Given the description of an element on the screen output the (x, y) to click on. 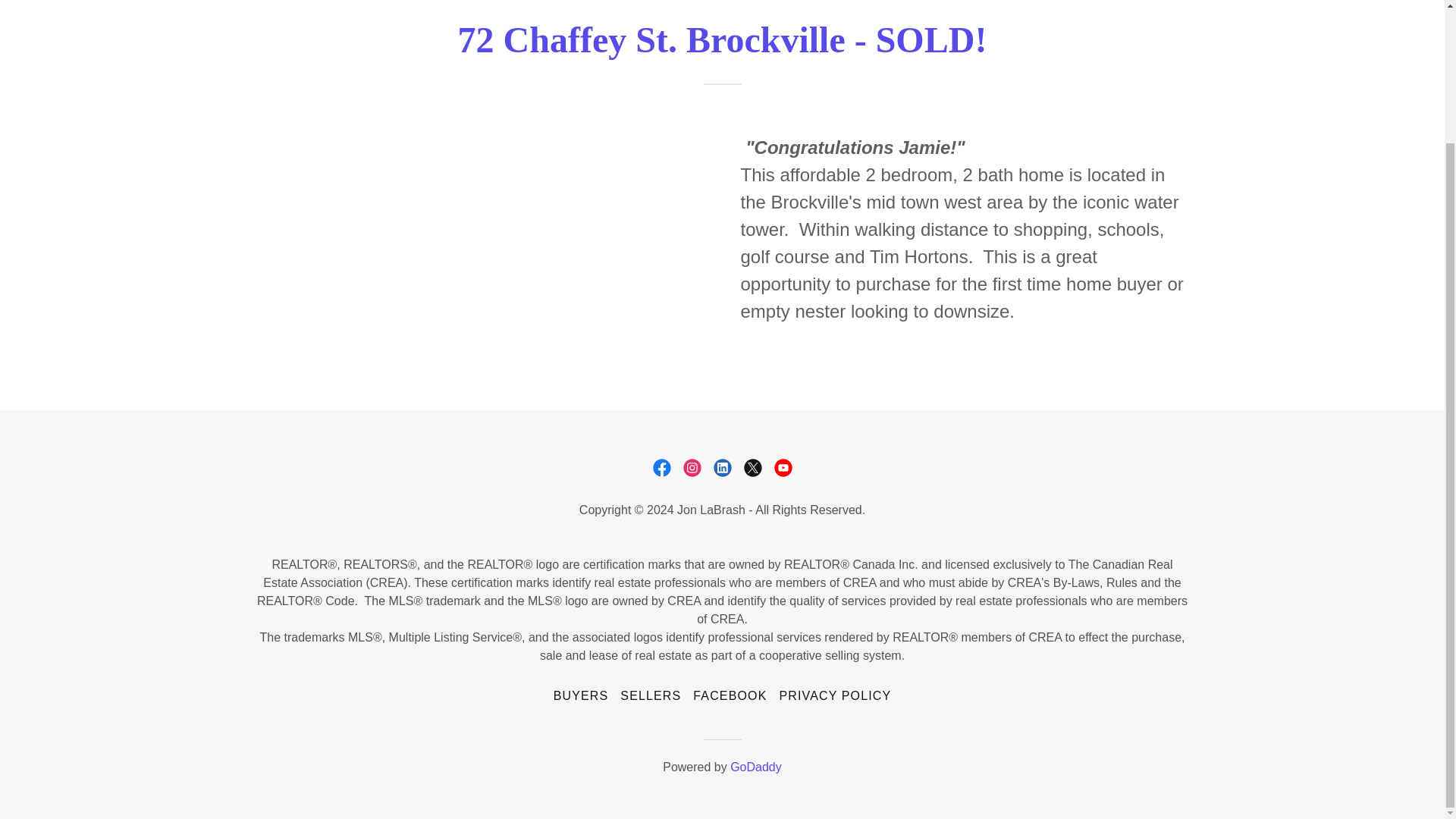
FACEBOOK (730, 696)
BUYERS (580, 696)
PRIVACY POLICY (834, 696)
GoDaddy (755, 766)
SELLERS (650, 696)
